Given the description of an element on the screen output the (x, y) to click on. 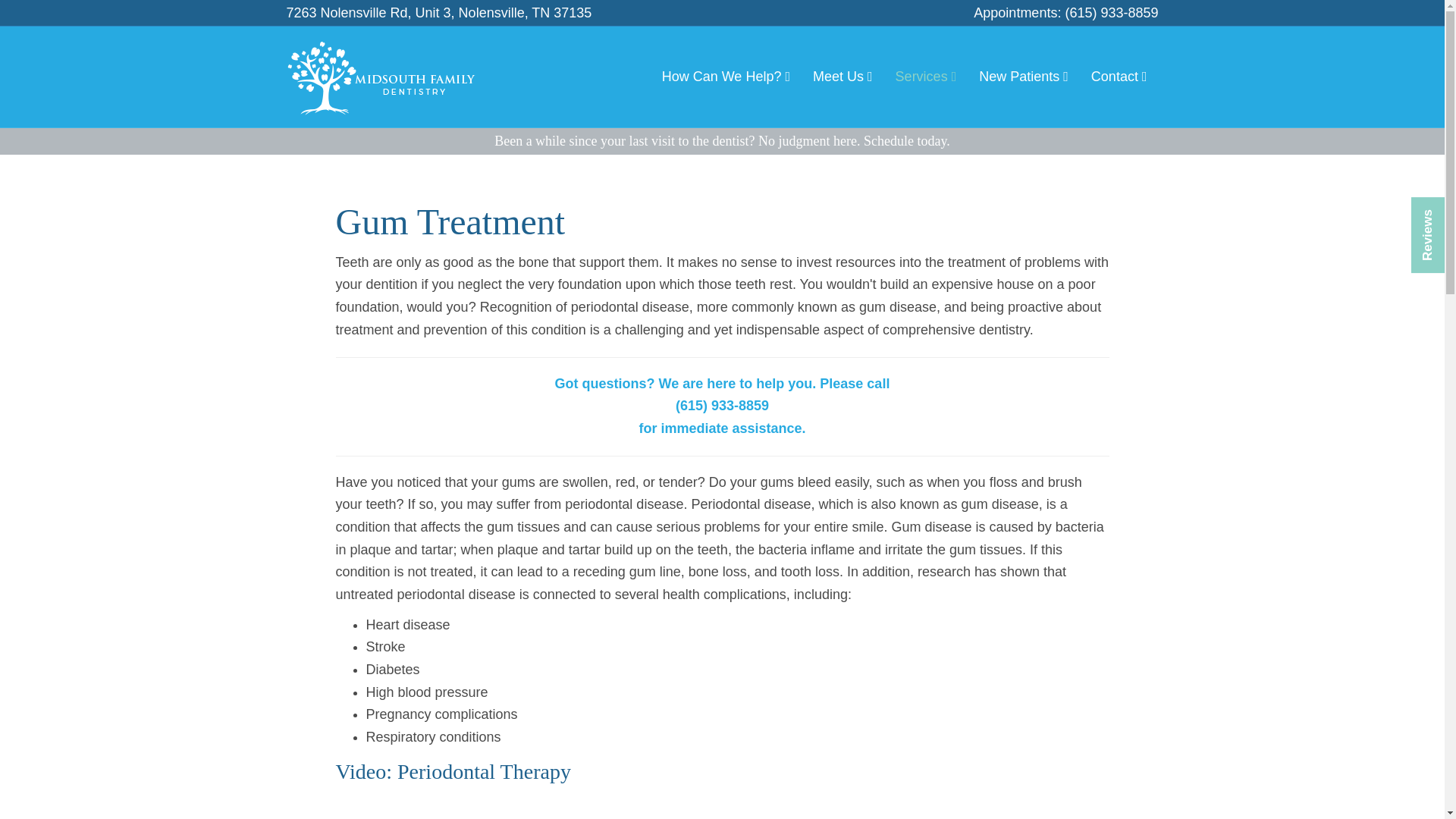
Meet Us (842, 77)
7263 Nolensville Rd, Unit 3, Nolensville, TN 37135 (439, 12)
Contact (1119, 77)
New Patients (1024, 77)
Services (925, 77)
How Can We Help? (726, 77)
